Given the description of an element on the screen output the (x, y) to click on. 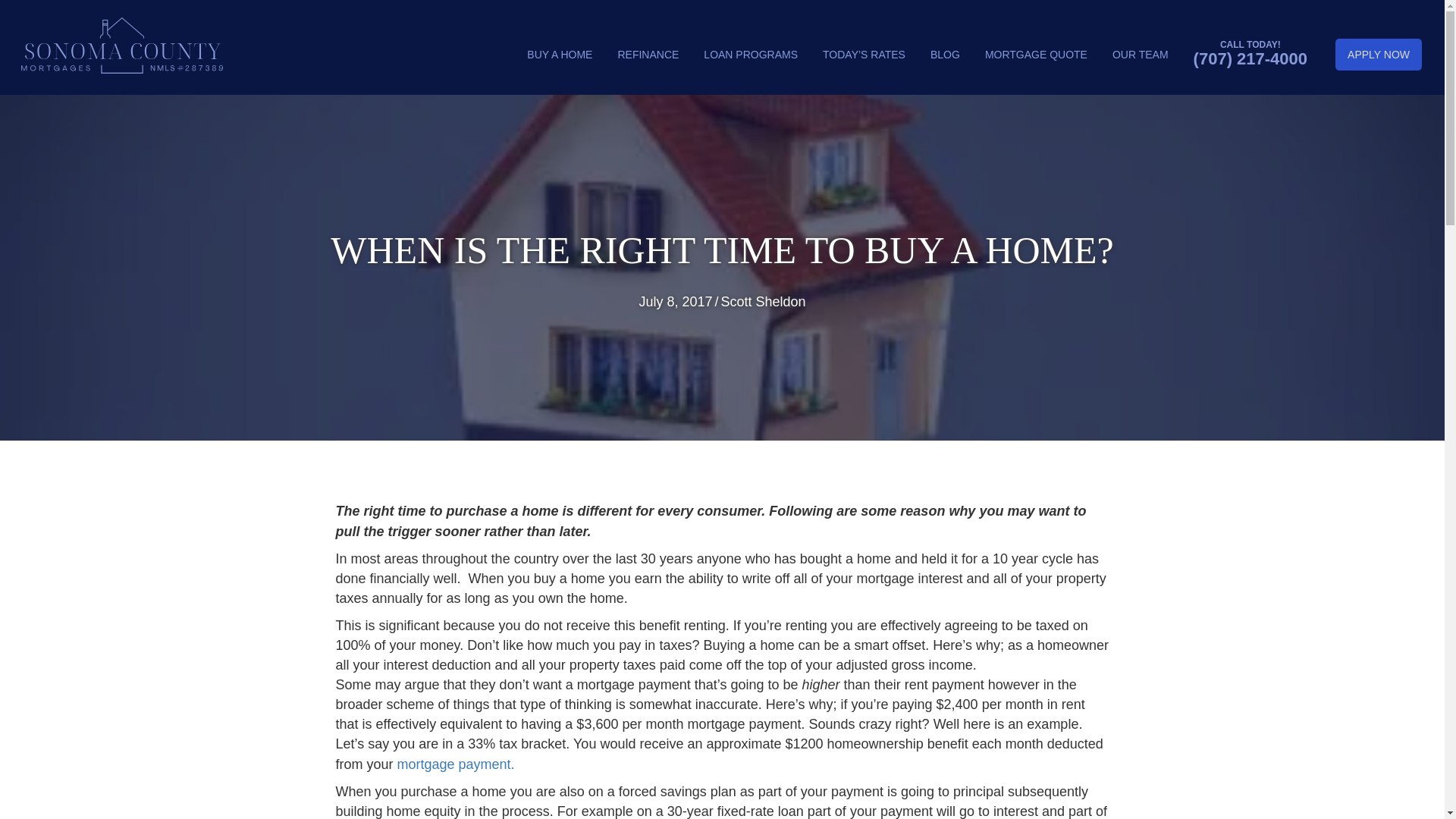
MORTGAGE QUOTE (1035, 54)
BLOG (945, 54)
Sonoma County Mortgages (121, 45)
REFINANCE (647, 54)
LOAN PROGRAMS (750, 54)
APPLY NOW (1378, 54)
BUY A HOME (559, 54)
OUR TEAM (1140, 54)
mortgage payment. (456, 764)
